Given the description of an element on the screen output the (x, y) to click on. 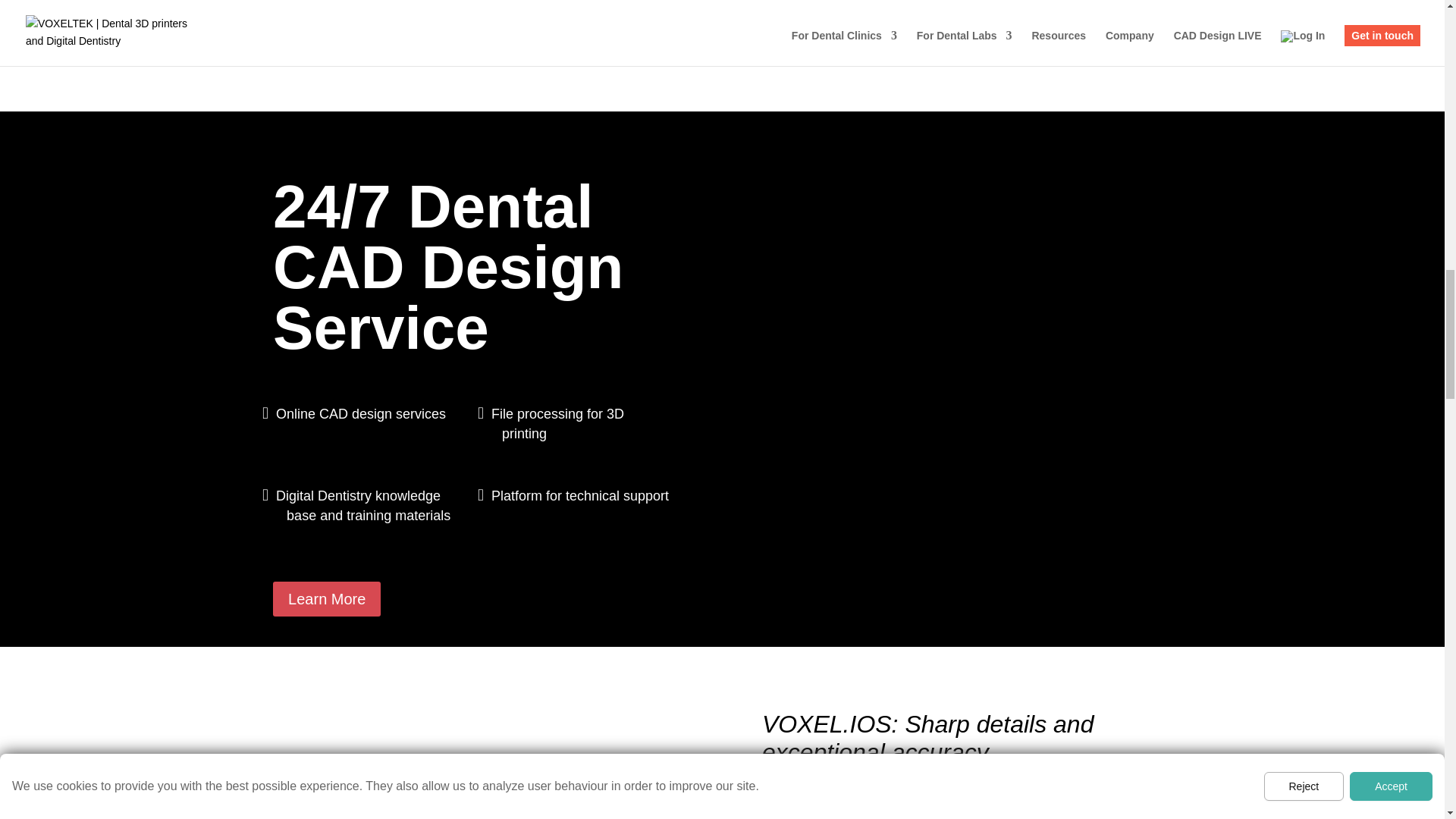
intraoral scan (363, 1)
CAD Design service (701, 1)
Learn More (326, 598)
dental 3d print (1038, 1)
